Given the description of an element on the screen output the (x, y) to click on. 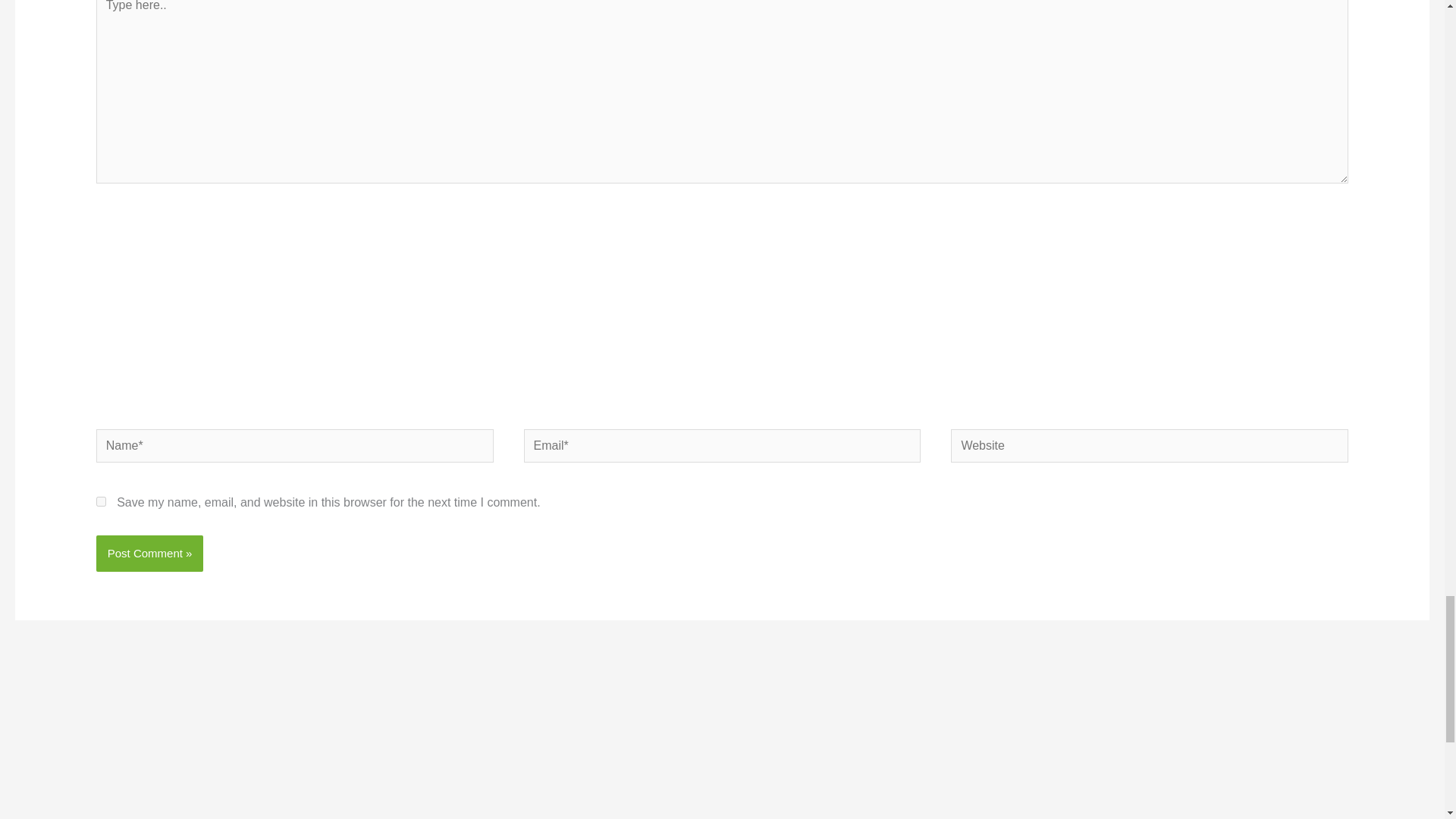
yes (101, 501)
